Given the description of an element on the screen output the (x, y) to click on. 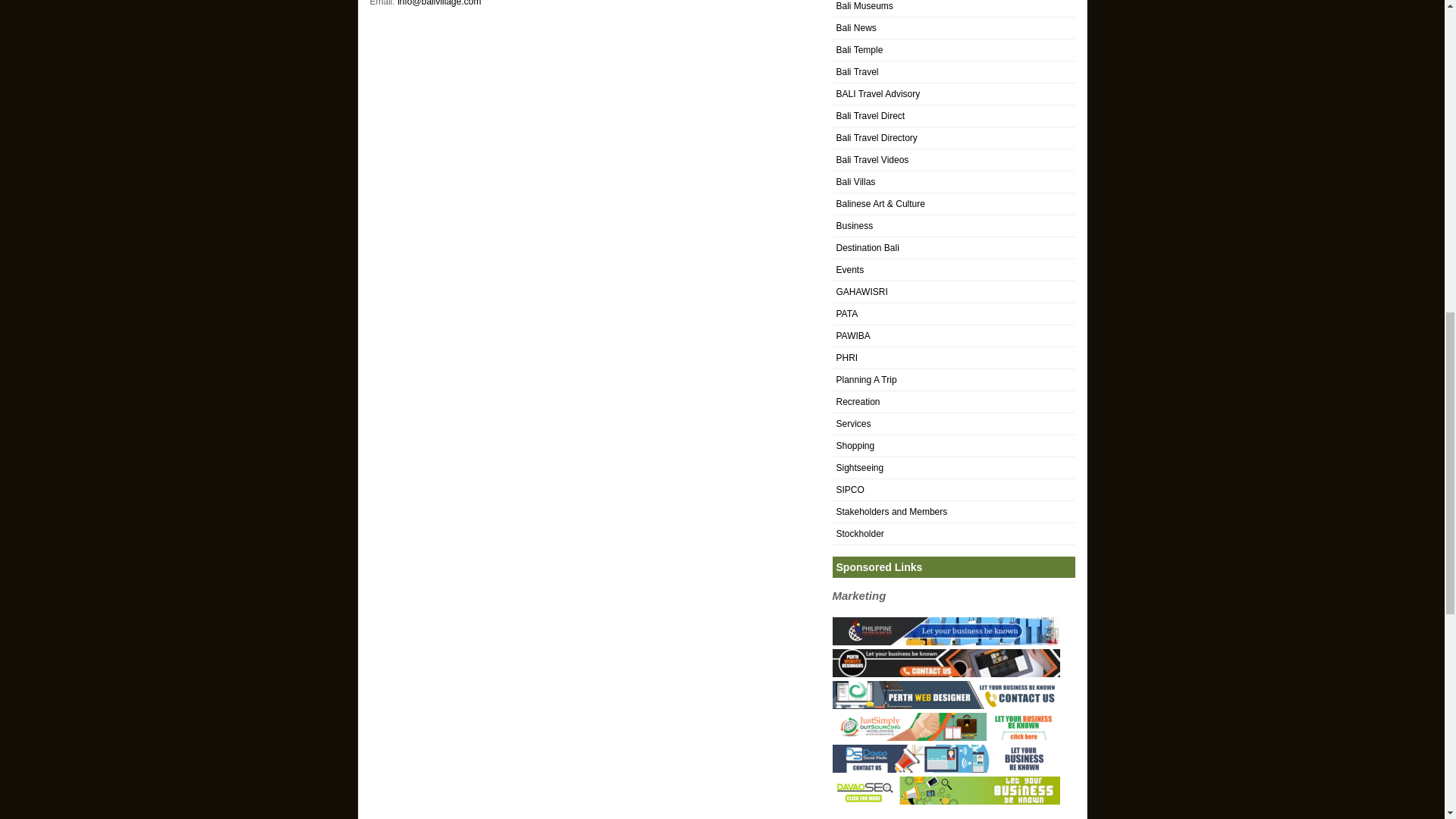
Bali News (855, 27)
Bali Temple (858, 50)
Bali Museums (863, 5)
Bali Travel Direct (869, 115)
Bali Travel (856, 71)
BALI Travel Advisory (877, 93)
